Given the description of an element on the screen output the (x, y) to click on. 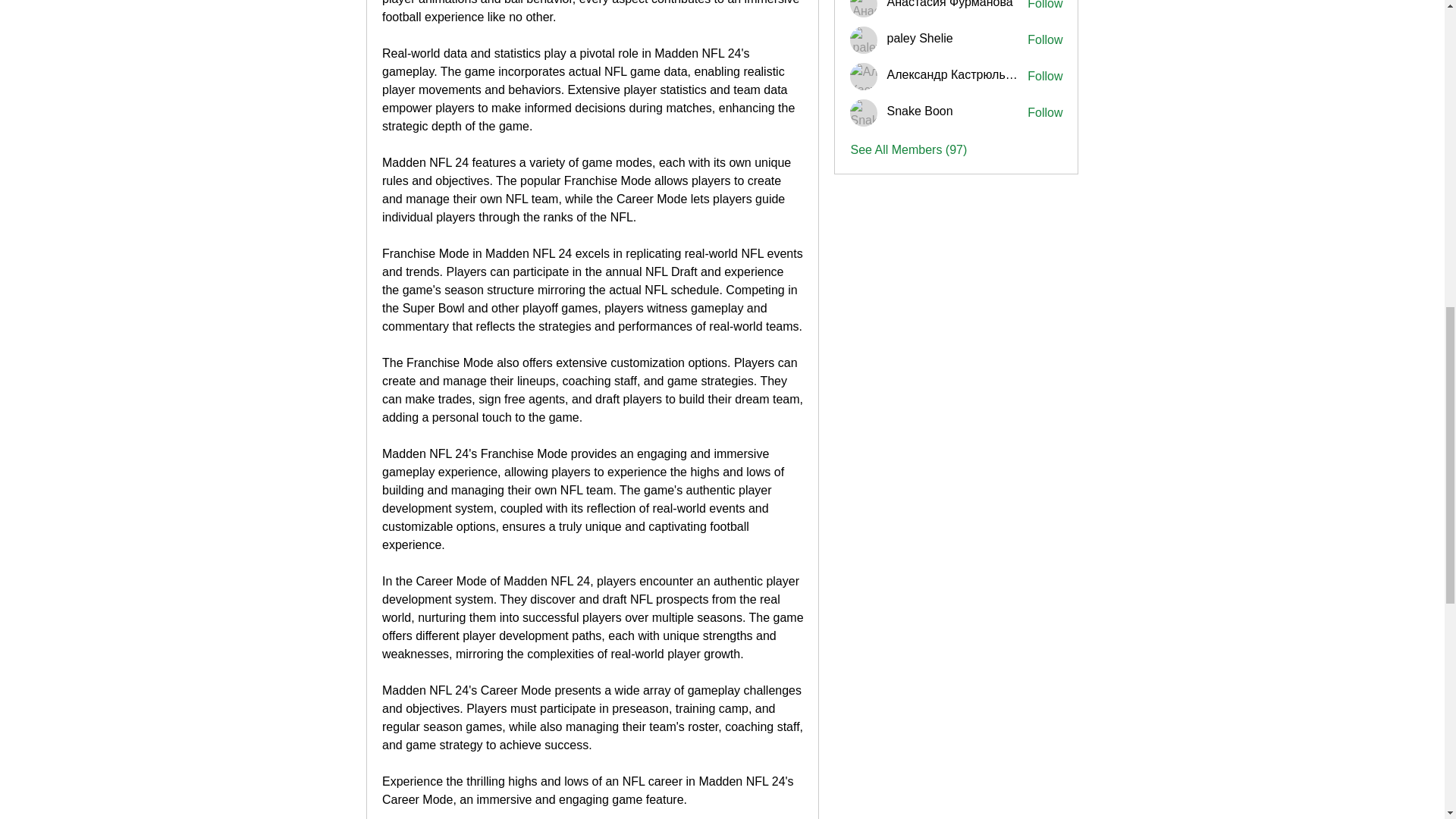
Follow (1044, 39)
paley Shelie (863, 40)
Snake Boon (863, 112)
paley Shelie (919, 38)
Follow (1044, 6)
